Given the description of an element on the screen output the (x, y) to click on. 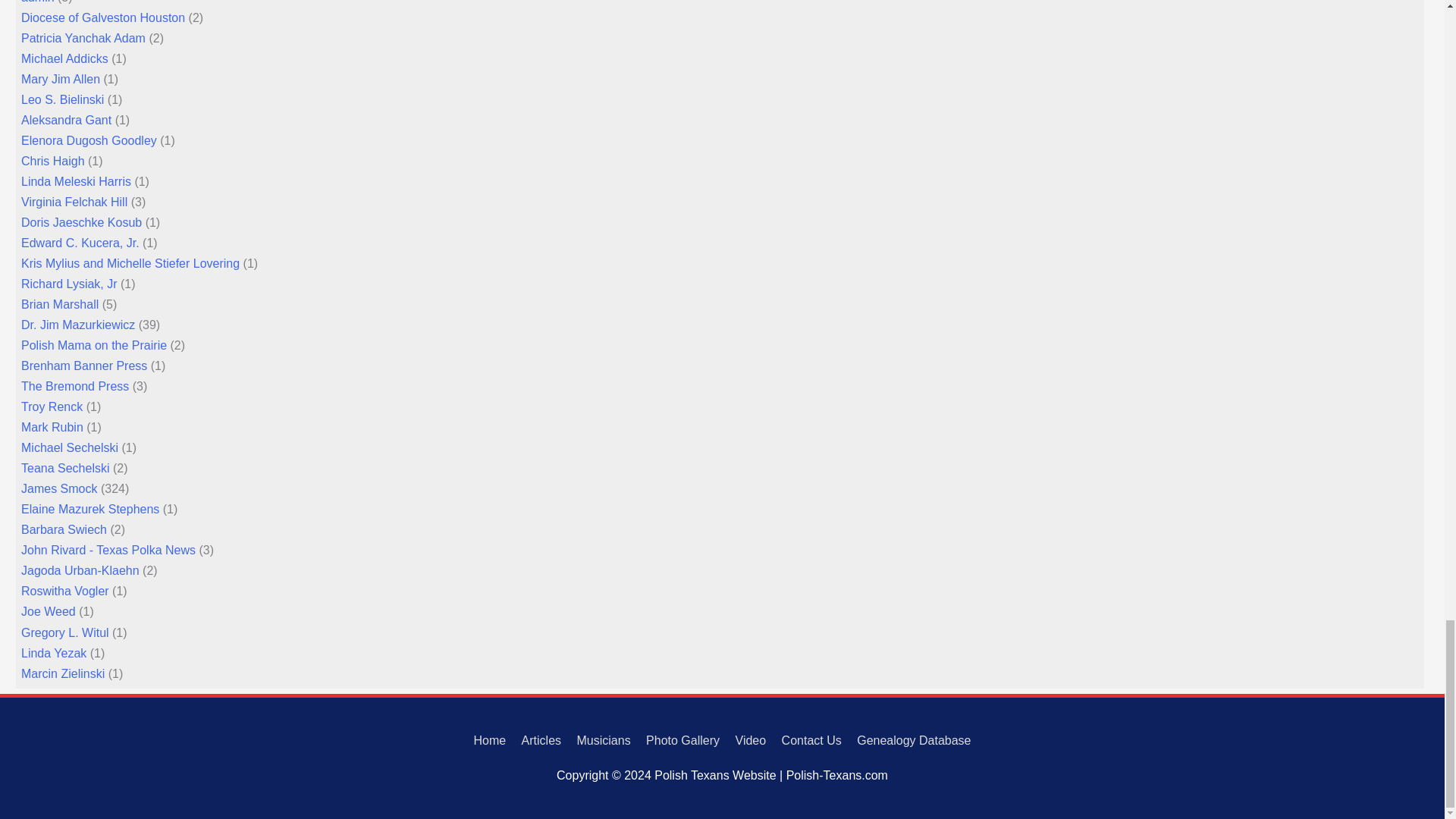
Posts by Diocese of Galveston Houston (102, 17)
Posts by Aleksandra Gant (66, 119)
Posts by Michael Addicks (64, 58)
Posts by Patricia Yanchak Adam (83, 38)
Posts by Elenora Dugosh Goodley (89, 140)
Posts by Mary Jim Allen (60, 78)
Posts by Leo S. Bielinski (62, 99)
Posts by admin (38, 2)
